Given the description of an element on the screen output the (x, y) to click on. 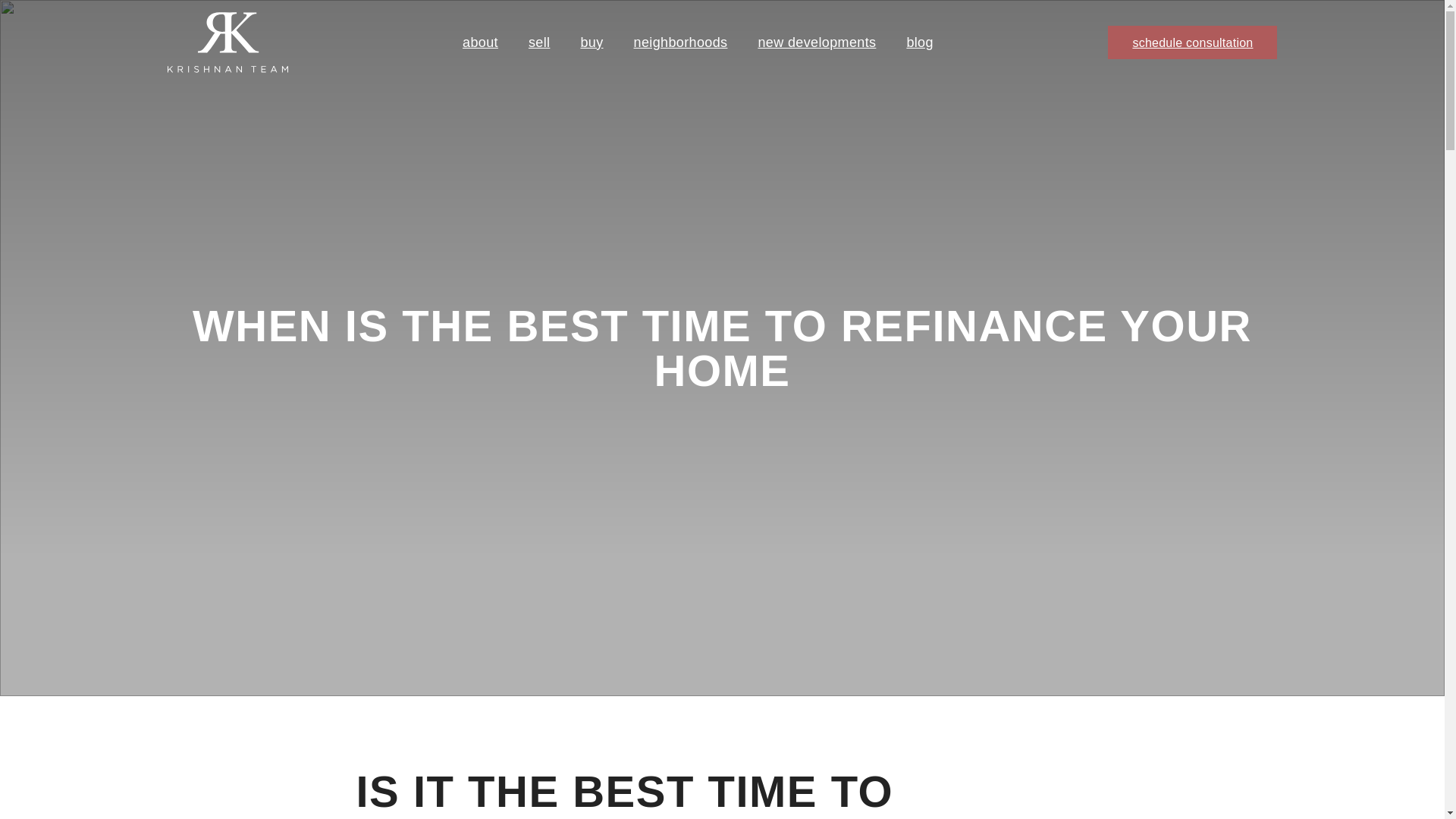
about (480, 42)
new developments (816, 42)
sell (539, 42)
schedule consultation (1192, 41)
blog (919, 42)
buy (590, 42)
neighborhoods (680, 42)
